Given the description of an element on the screen output the (x, y) to click on. 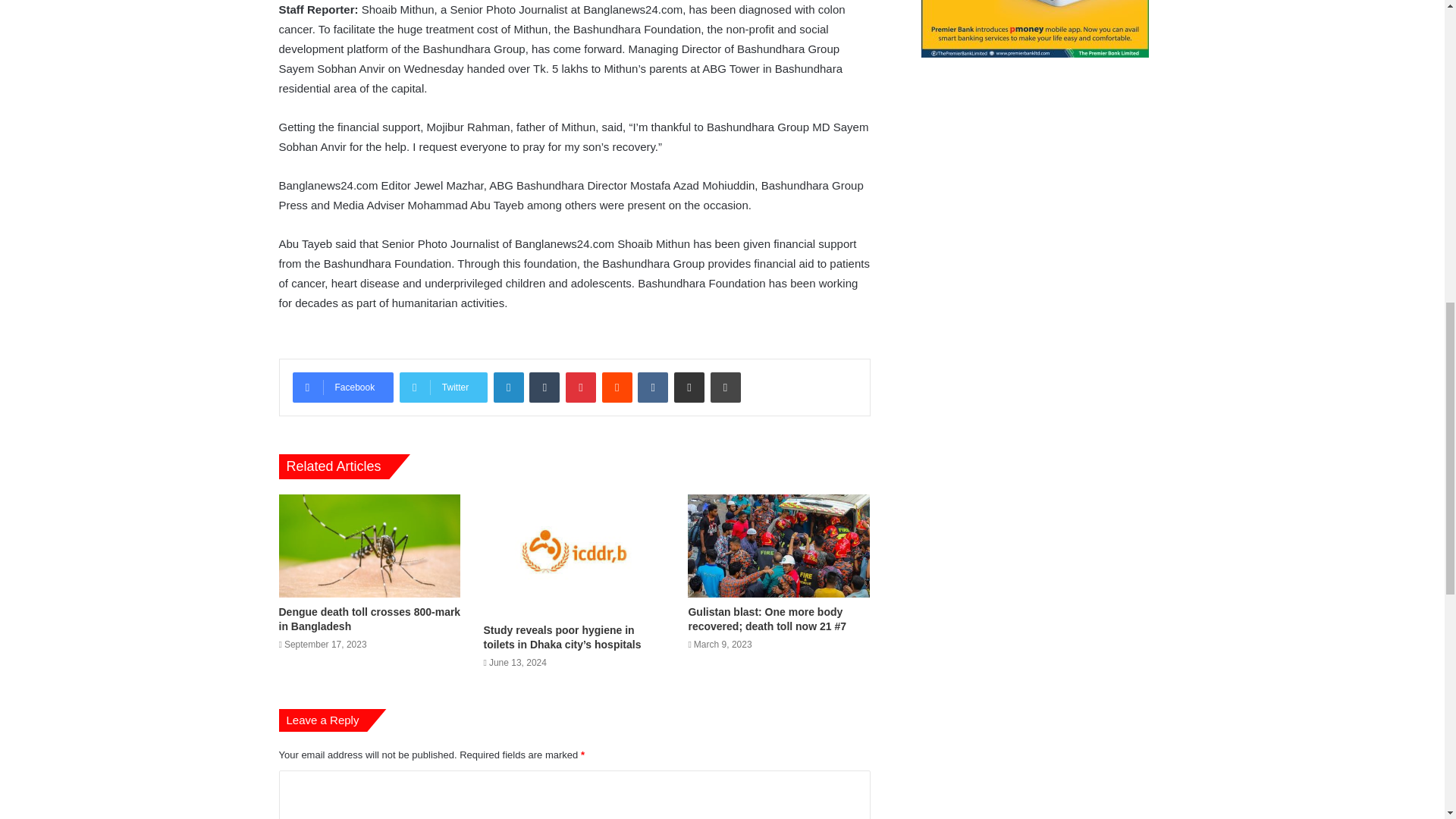
Reddit (616, 387)
Tumblr (544, 387)
LinkedIn (508, 387)
Facebook (343, 387)
Pinterest (580, 387)
LinkedIn (508, 387)
Twitter (442, 387)
Twitter (442, 387)
Facebook (343, 387)
Tumblr (544, 387)
